Given the description of an element on the screen output the (x, y) to click on. 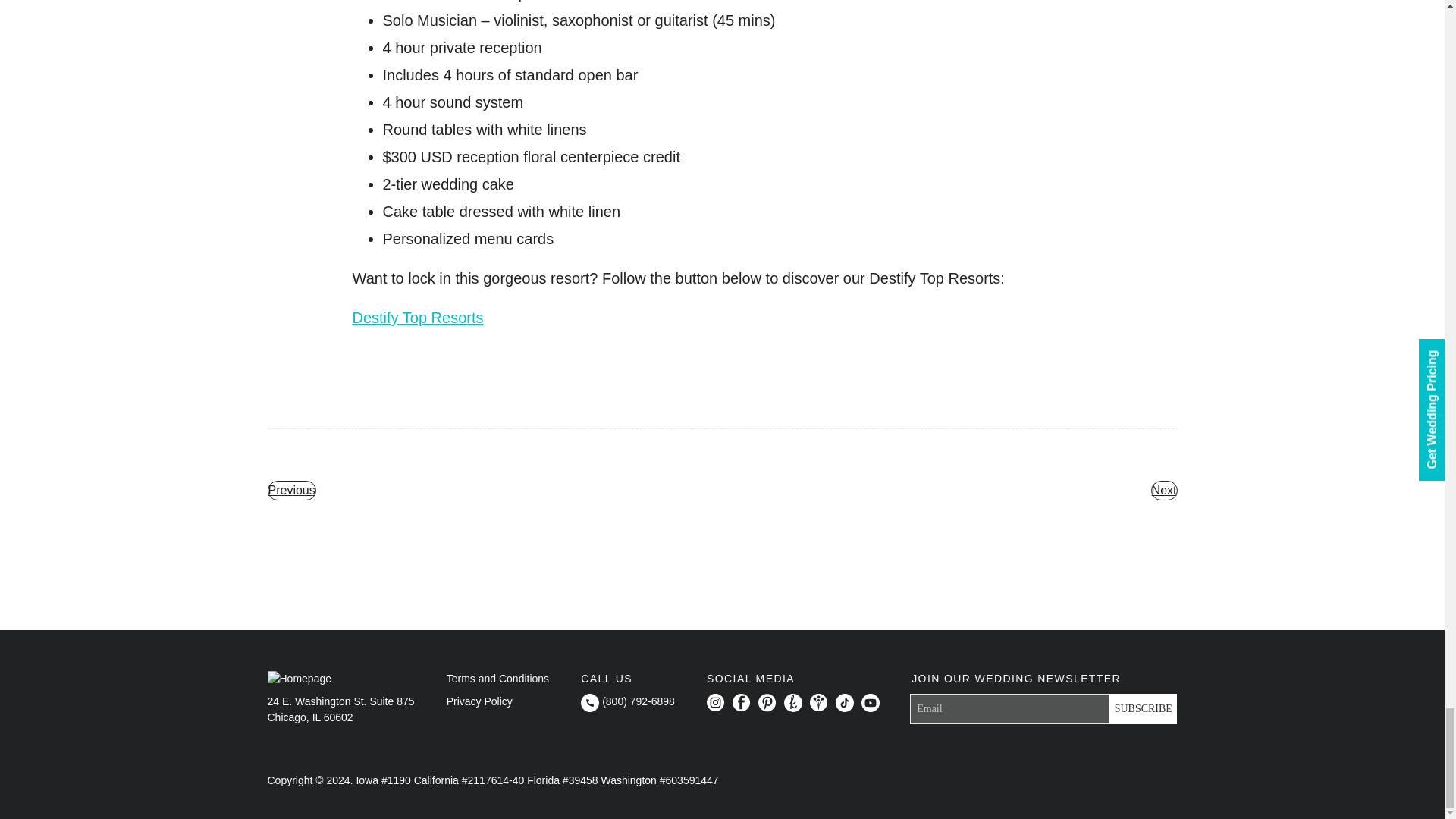
Homepage (298, 678)
